Given the description of an element on the screen output the (x, y) to click on. 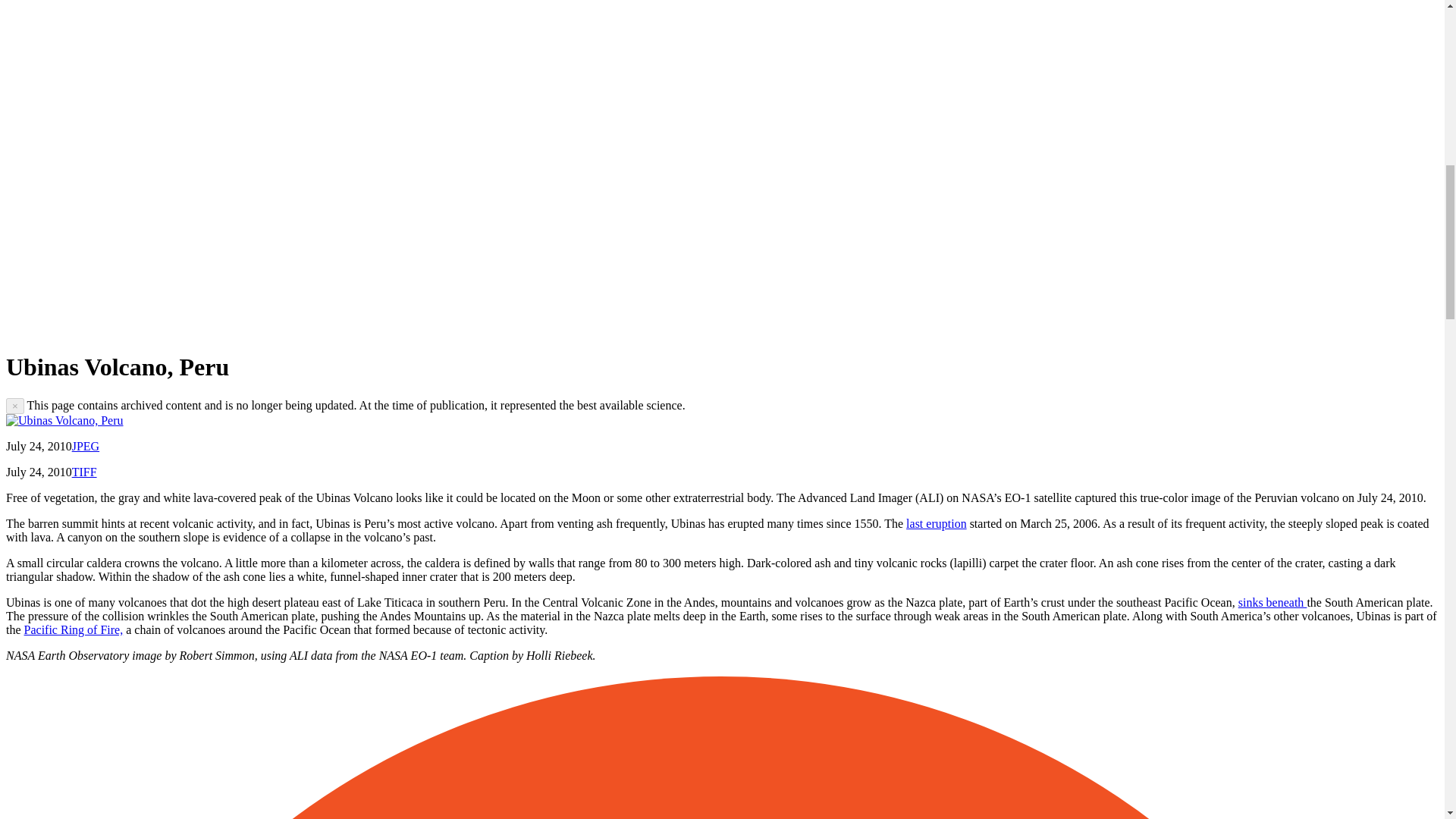
Print (510, 329)
Share (161, 329)
